Given the description of an element on the screen output the (x, y) to click on. 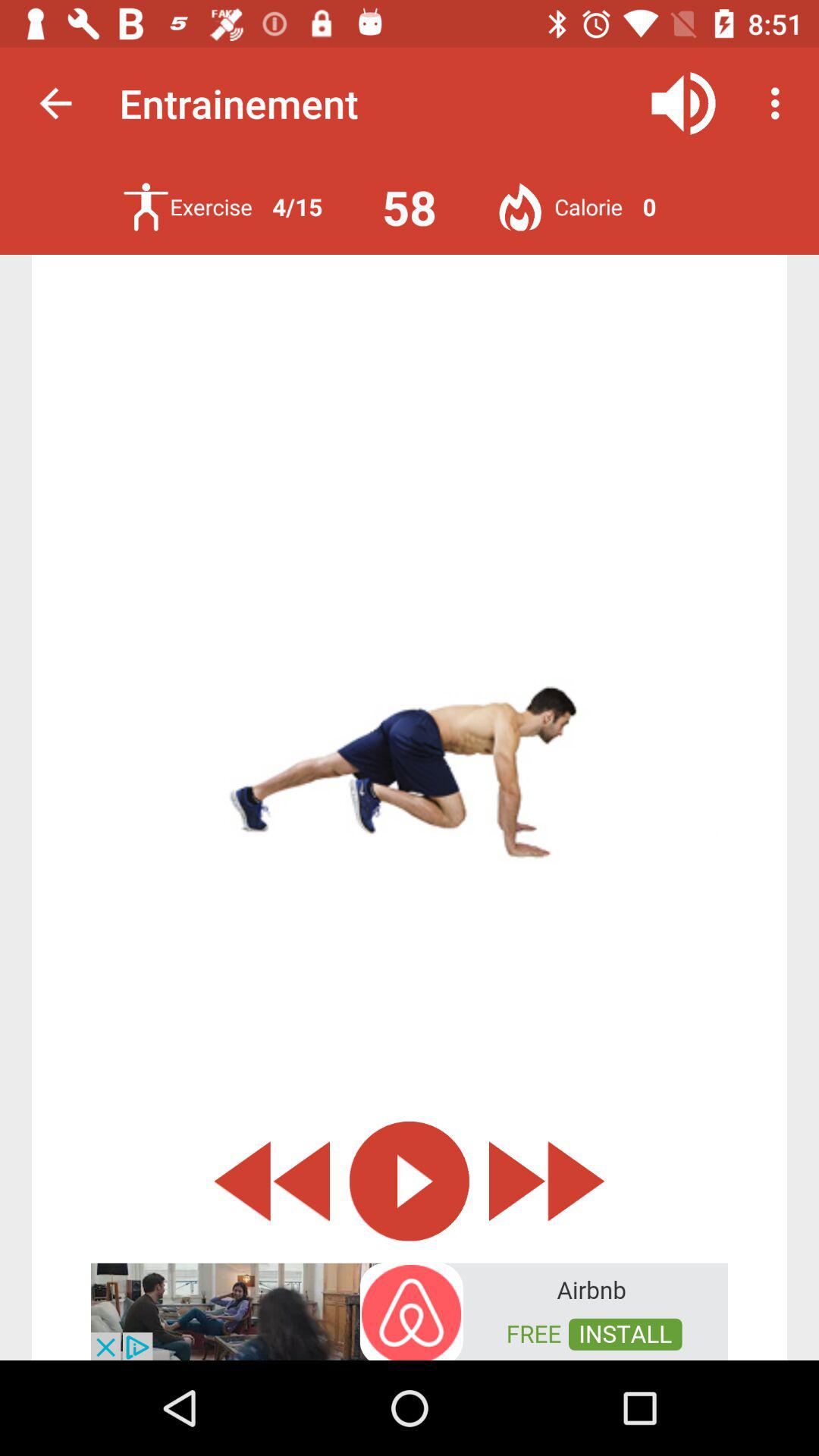
rewind the exercise (271, 1181)
